Given the description of an element on the screen output the (x, y) to click on. 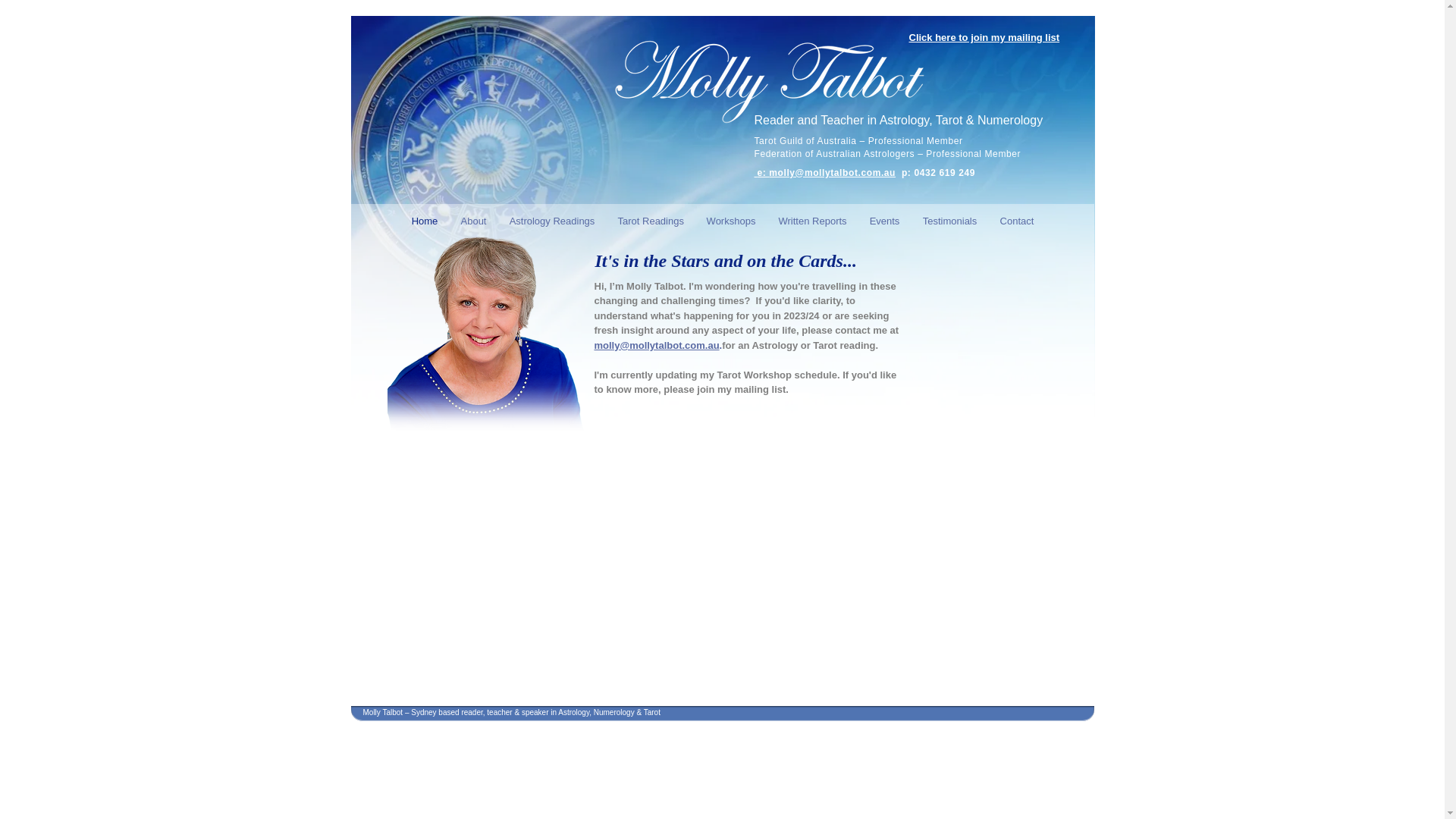
Molly Talbot Pic.png Element type: hover (484, 326)
molly@mollytalbot.com.au Element type: text (656, 345)
Molly Talbot Element type: hover (767, 81)
Tarot Readings Element type: text (650, 219)
Written Reports Element type: text (812, 219)
About Element type: text (472, 219)
Workshops Element type: text (730, 219)
. Element type: text (720, 345)
molly@mollytalbot.com.au Element type: text (831, 172)
Click here to join my mailing list Element type: text (983, 36)
Events Element type: text (884, 219)
Home Element type: text (424, 219)
Testimonials Element type: text (949, 219)
Astrology Readings Element type: text (551, 219)
Contact Element type: text (1016, 219)
